Given the description of an element on the screen output the (x, y) to click on. 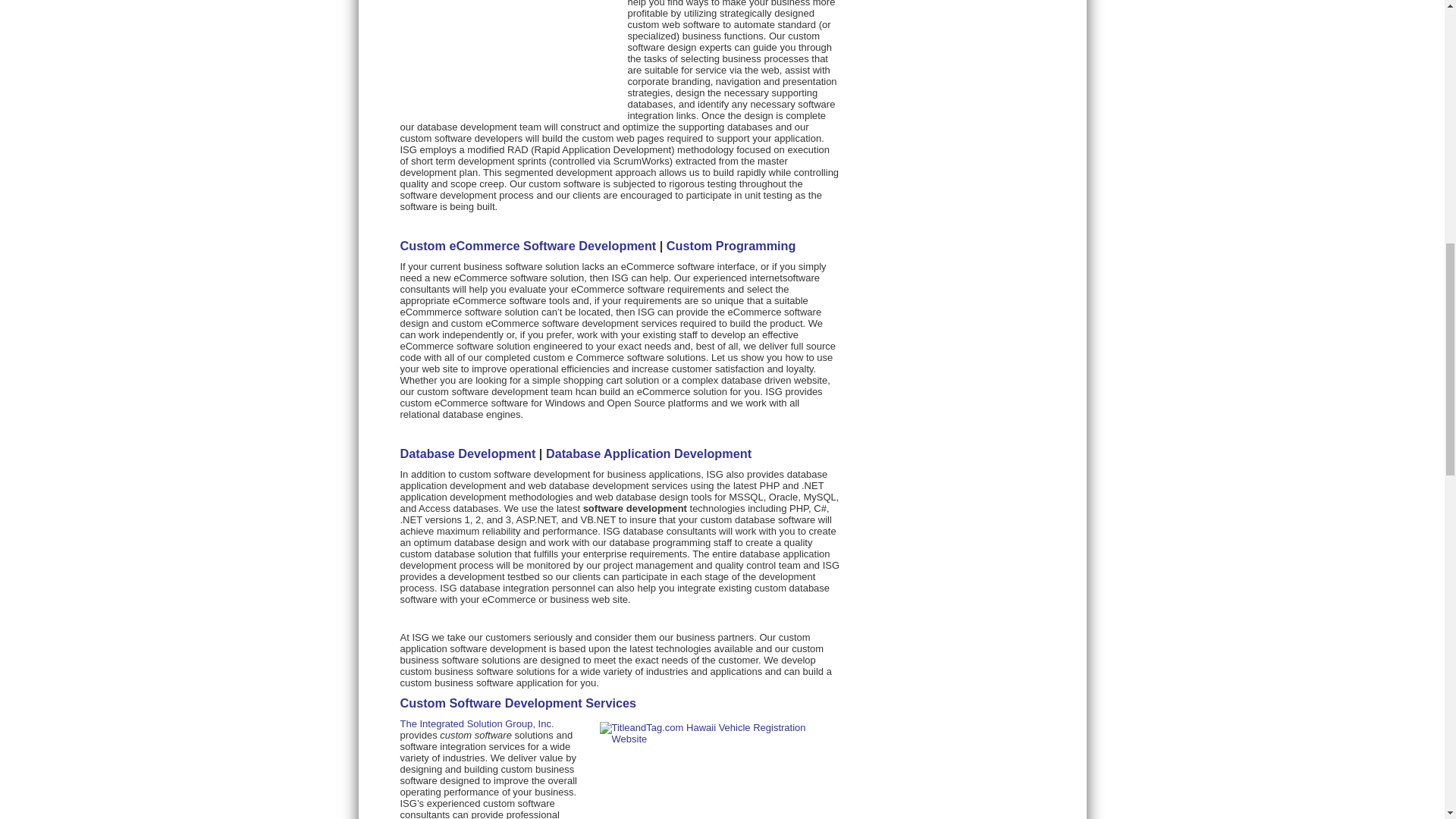
Custom Software Development Services (518, 703)
Custom Programming (731, 245)
Custom eCommerce Software Development (528, 245)
Database Application Development (648, 453)
The Integrated Solution Group, Inc. (477, 723)
Database Development (467, 453)
Custom Programming (731, 245)
Custom eCommerce Software (528, 245)
